Given the description of an element on the screen output the (x, y) to click on. 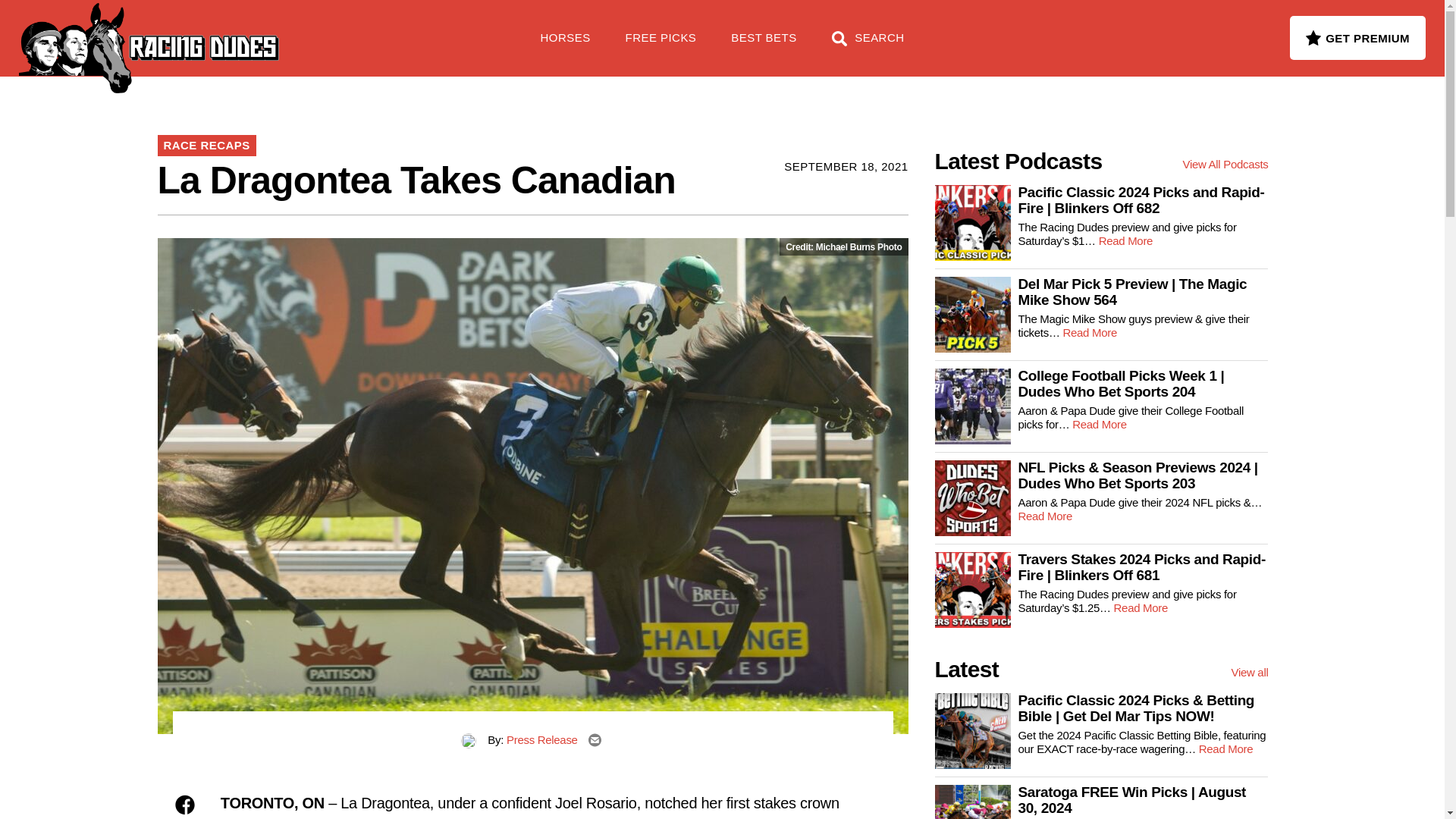
FREE PICKS (661, 45)
Posts by Press Release (542, 739)
PODCASTS (354, 29)
HORSES (565, 45)
 SEARCH (867, 45)
FREE PICKS (245, 29)
GET PREMIUM (1357, 37)
BEST BETS (763, 45)
